Given the description of an element on the screen output the (x, y) to click on. 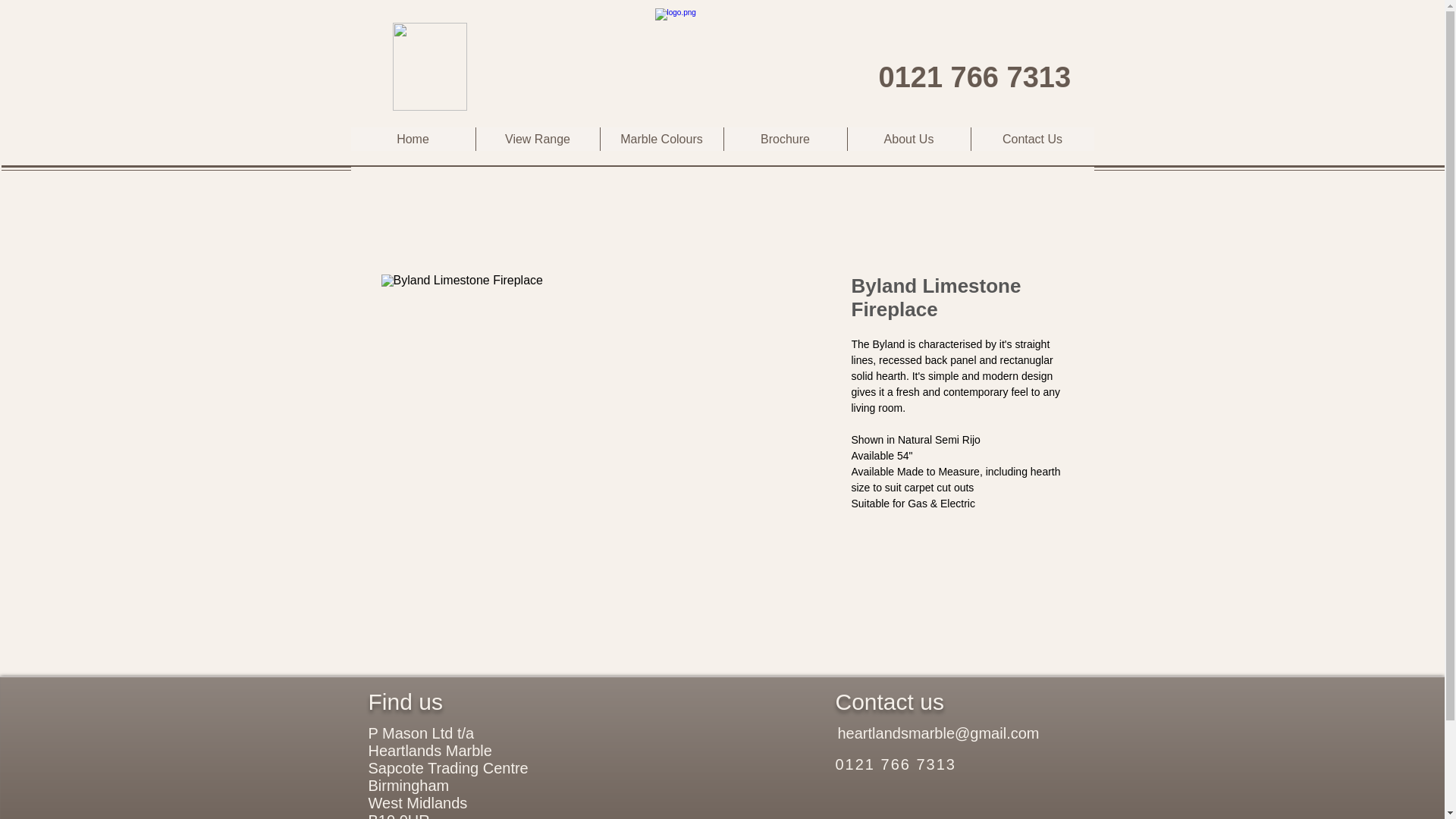
0121 766 7313 (973, 77)
About Us (907, 138)
View Range (536, 138)
Contact Us (1032, 138)
0121 766 7313 (895, 764)
Brochure (785, 138)
Home (412, 138)
Marble Colours (660, 138)
